Given the description of an element on the screen output the (x, y) to click on. 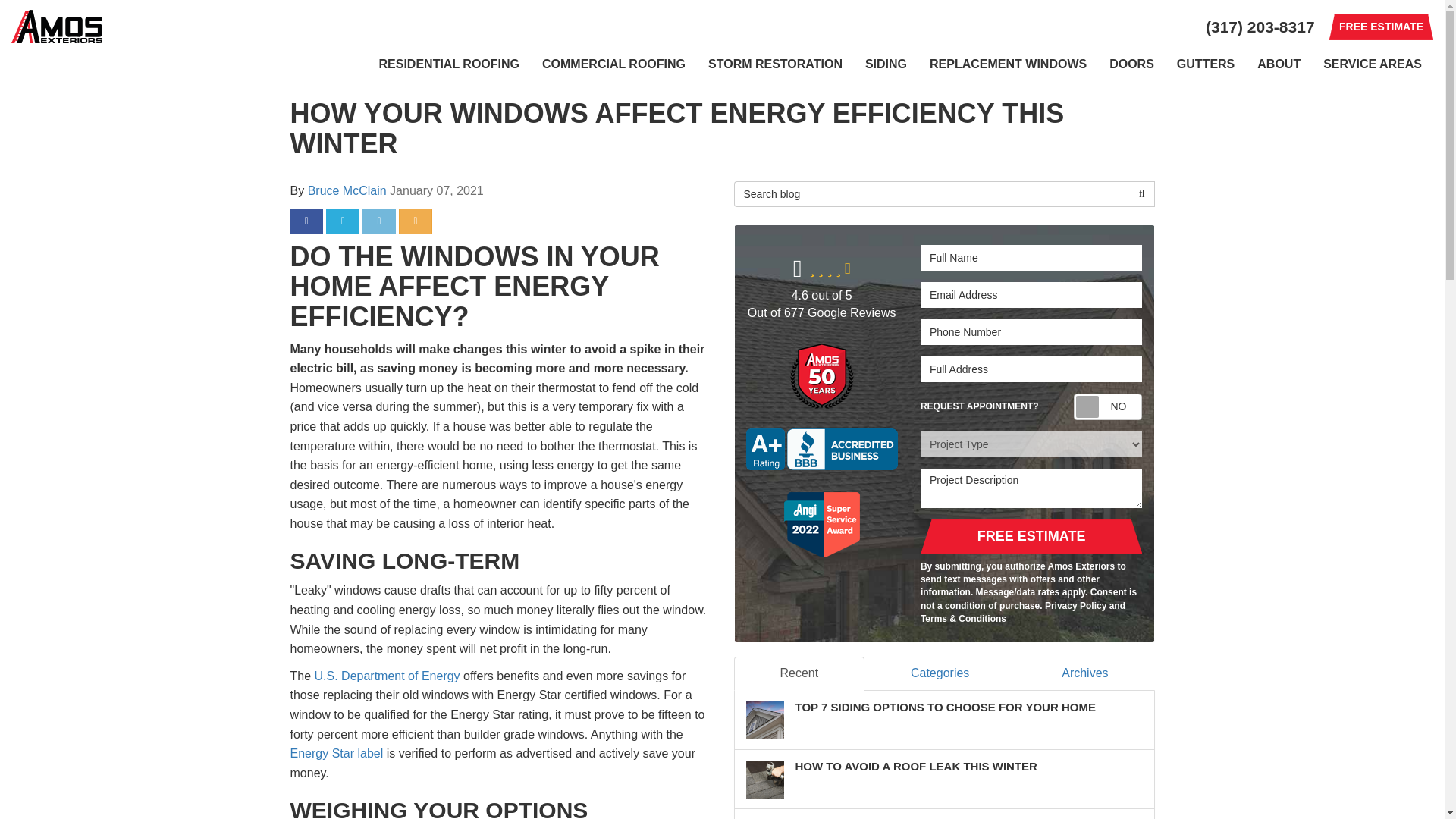
STORM RESTORATION (775, 64)
REPLACEMENT WINDOWS (1007, 64)
RESIDENTIAL ROOFING (448, 64)
DOORS (1131, 64)
FREE ESTIMATE (1380, 27)
FREE ESTIMATE (1380, 27)
COMMERCIAL ROOFING (614, 64)
SIDING (885, 64)
